Given the description of an element on the screen output the (x, y) to click on. 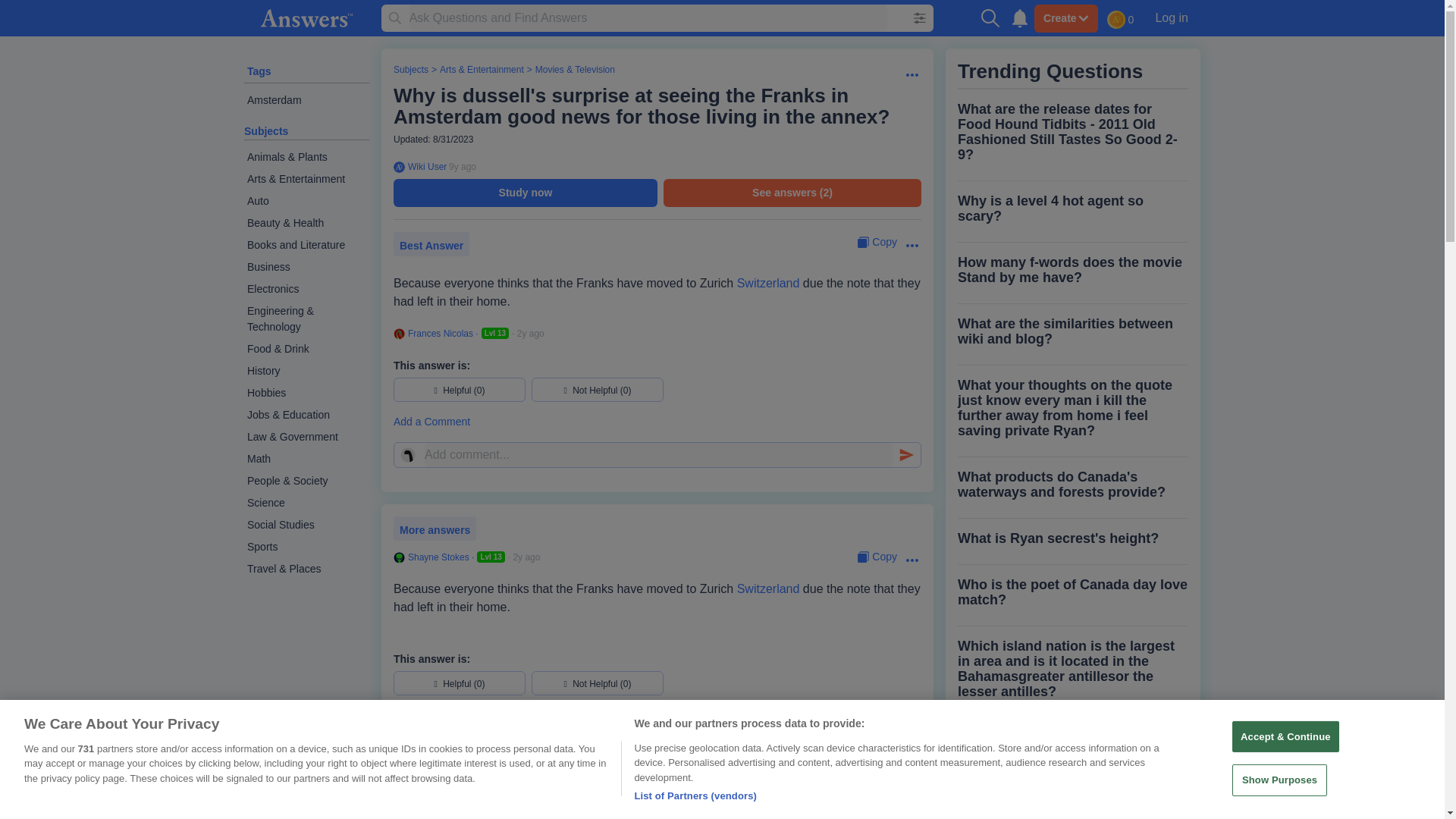
2021-12-09 02:03:22 (526, 557)
Log in (1170, 17)
2021-12-09 01:50:05 (530, 333)
Math (306, 458)
Science (306, 503)
Tags (258, 70)
Amsterdam (306, 100)
Copy (876, 242)
Auto (306, 201)
Hobbies (306, 393)
Switzerland (767, 282)
Study now (525, 193)
Books and Literature (306, 245)
Social Studies (306, 525)
Business (306, 267)
